Given the description of an element on the screen output the (x, y) to click on. 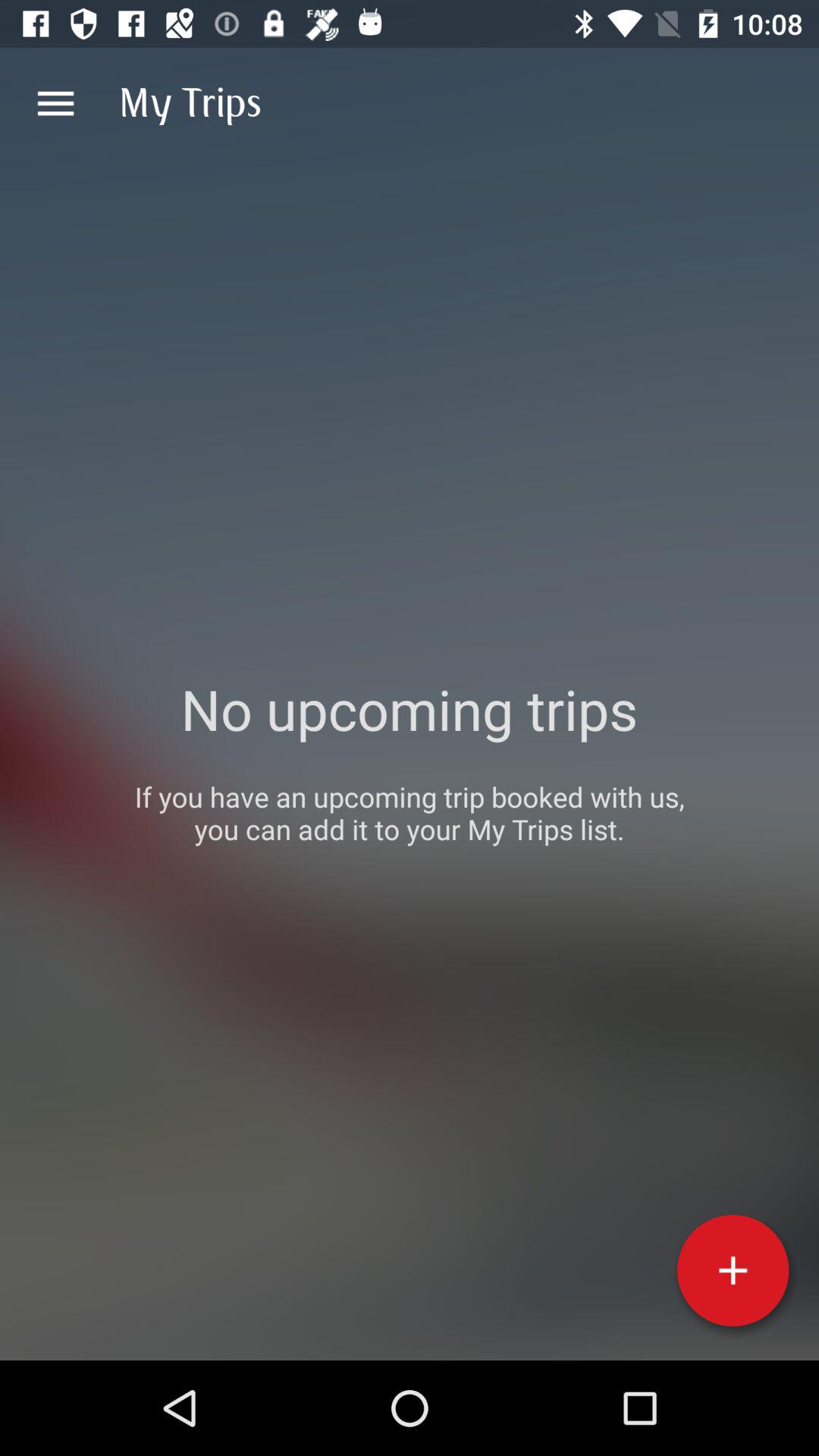
add trip (733, 1270)
